Given the description of an element on the screen output the (x, y) to click on. 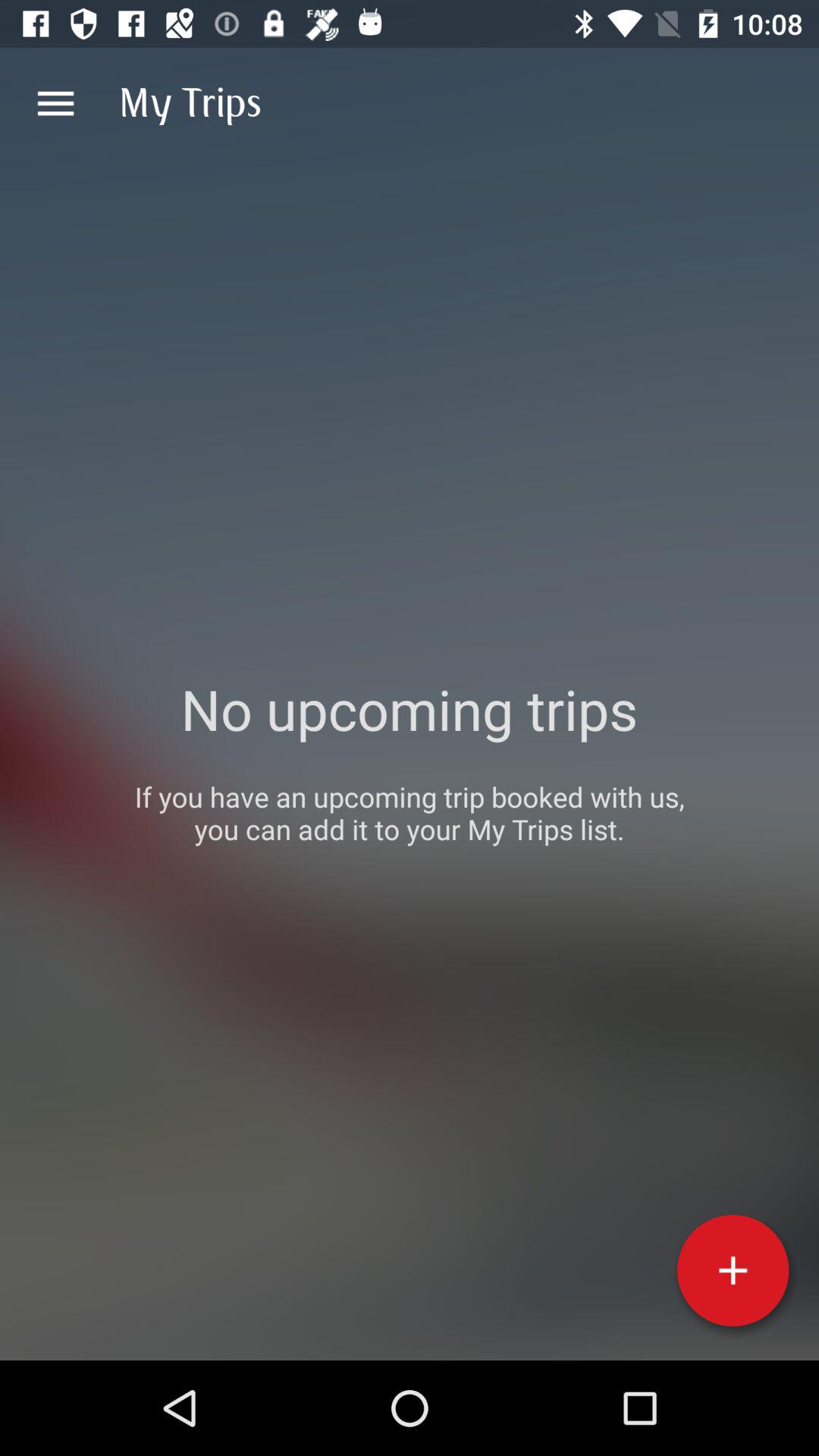
add trip (733, 1270)
